Given the description of an element on the screen output the (x, y) to click on. 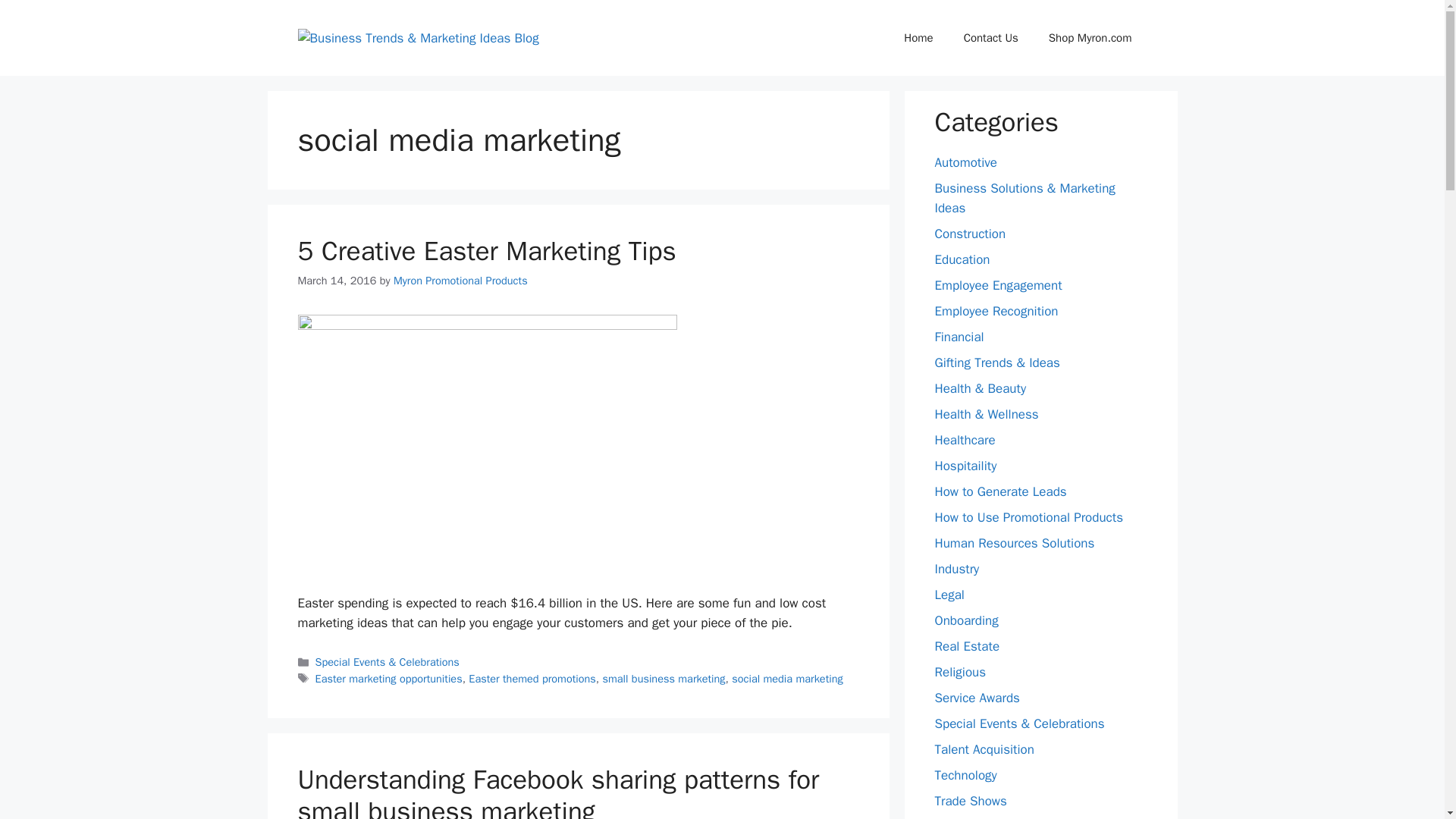
5 Creative Easter Marketing Tips (486, 250)
social media marketing (787, 678)
Easter themed promotions (531, 678)
View all posts by Myron Promotional Products (460, 280)
Shop Myron.com (1090, 37)
small business marketing (663, 678)
Home (917, 37)
Myron Promotional Products (460, 280)
Contact Us (991, 37)
Easter marketing opportunities (389, 678)
